Given the description of an element on the screen output the (x, y) to click on. 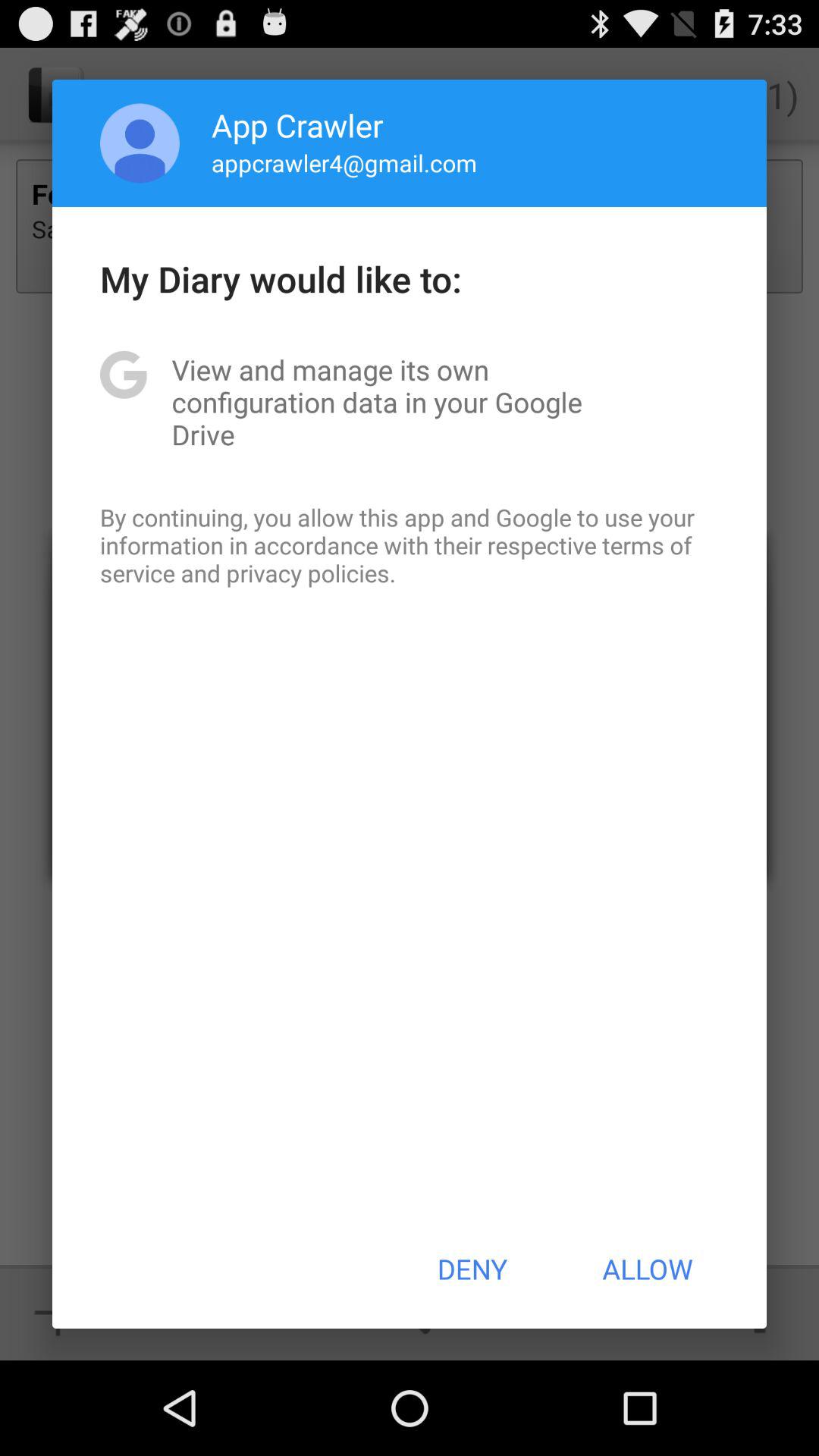
press the icon below by continuing you icon (471, 1268)
